Given the description of an element on the screen output the (x, y) to click on. 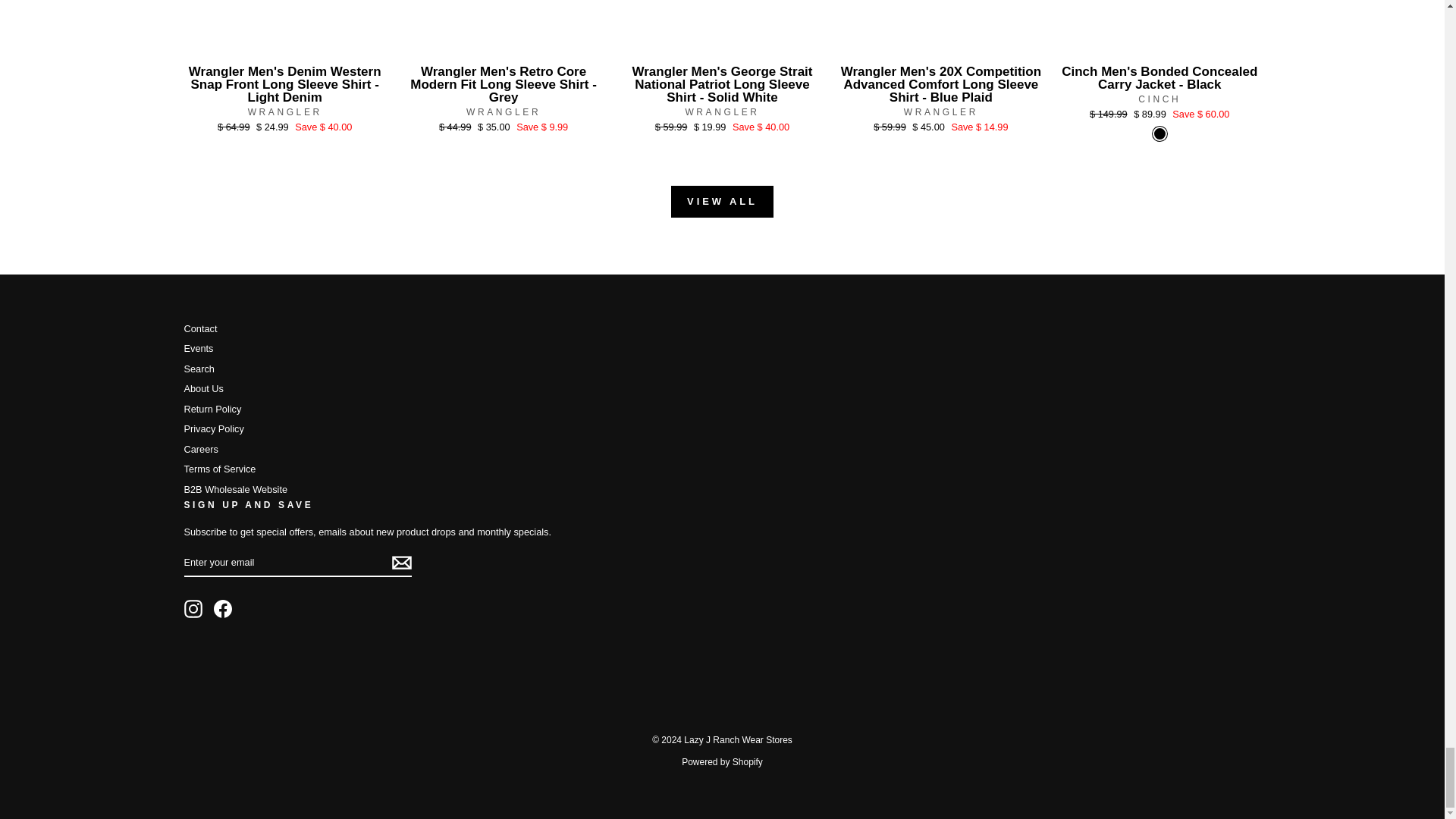
Lazy J Ranch Wear Stores on Instagram (192, 608)
Lazy J Ranch Wear Stores on Facebook (222, 608)
icon-email (400, 562)
instagram (192, 608)
